Given the description of an element on the screen output the (x, y) to click on. 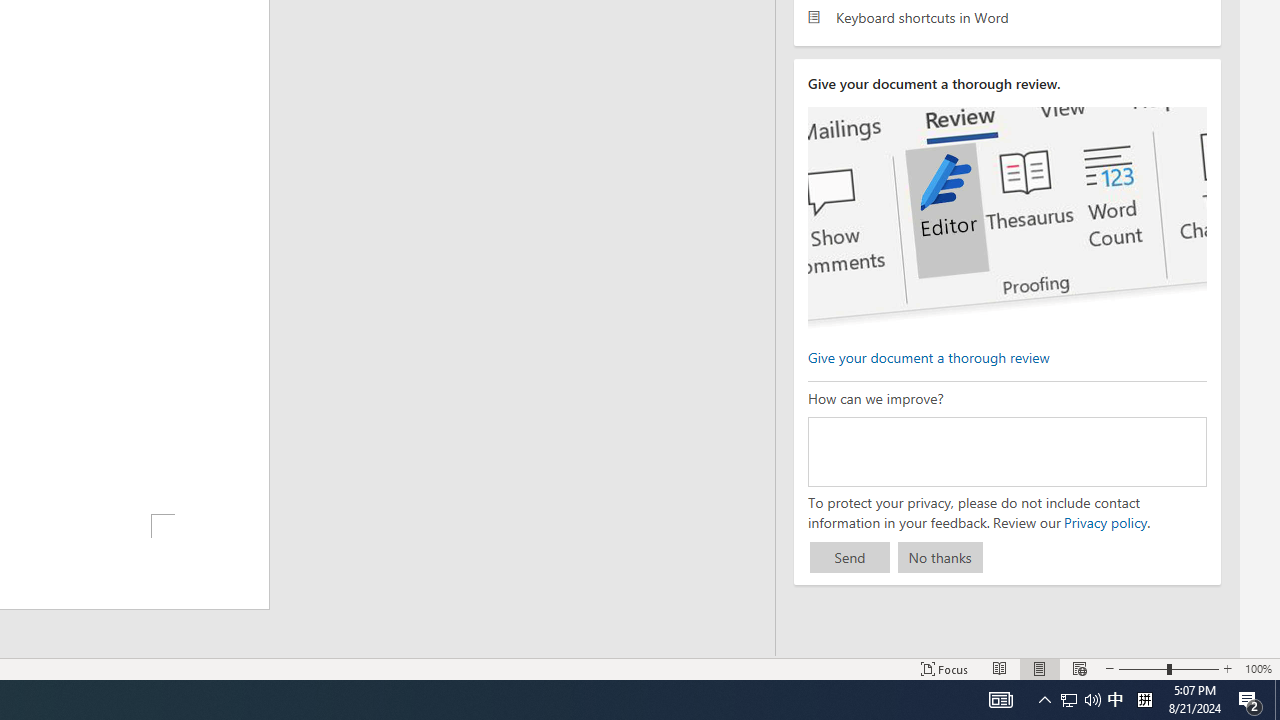
Print Layout (1039, 668)
Focus  (944, 668)
Read Mode (1000, 668)
No thanks (940, 557)
Web Layout (1079, 668)
How can we improve? (1007, 451)
Zoom 100% (1258, 668)
Privacy policy (1104, 522)
Give your document a thorough review (928, 356)
Send (849, 557)
Zoom (1168, 668)
Zoom Out (1142, 668)
editor ui screenshot (1007, 218)
Zoom In (1227, 668)
Keyboard shortcuts in Word (1007, 16)
